Given the description of an element on the screen output the (x, y) to click on. 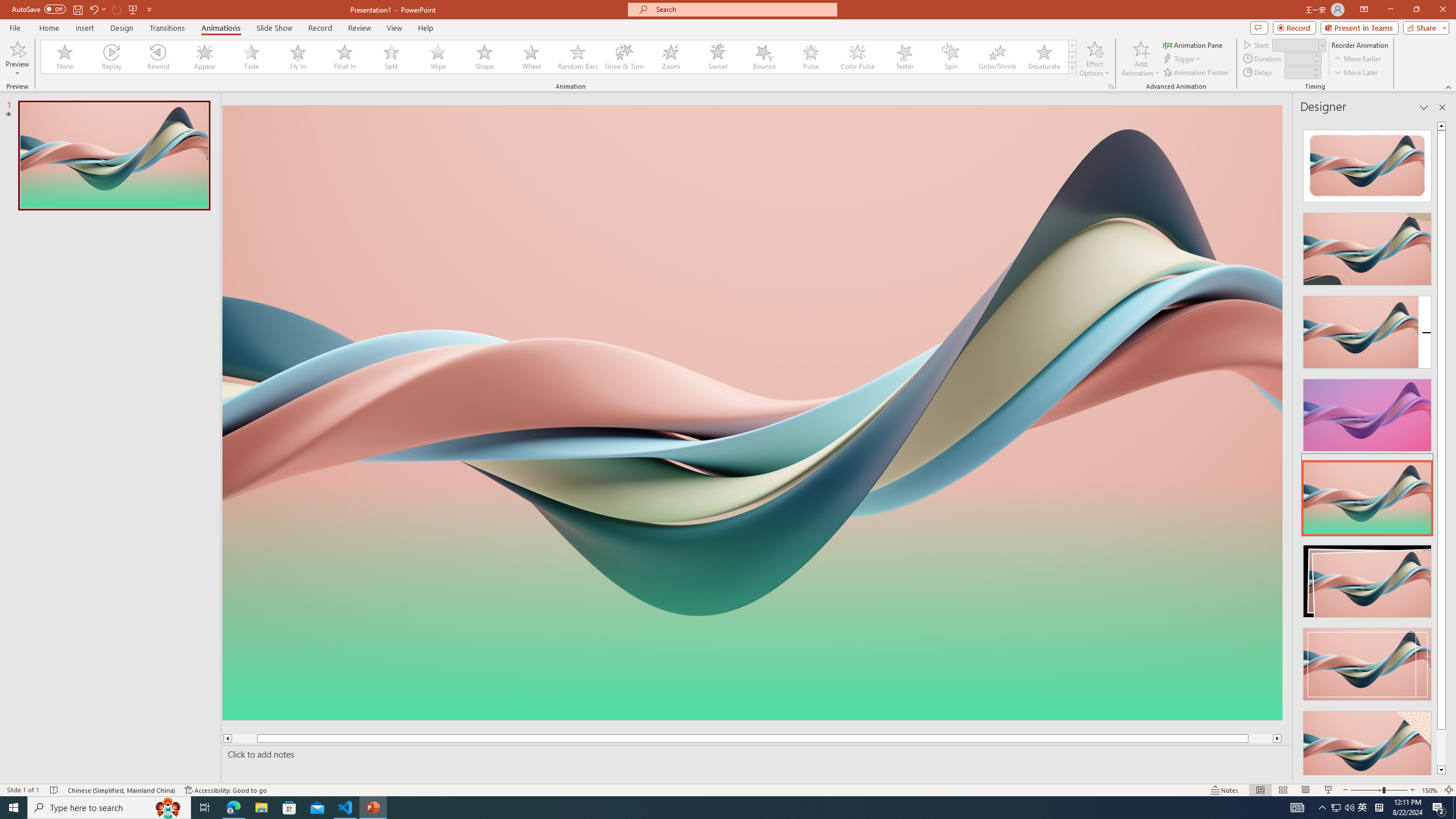
Slide (114, 155)
Shape (484, 56)
AutomationID: AnimationGallery (558, 56)
Decorative Locked (752, 579)
Add Animation (1141, 58)
Slide Notes (754, 754)
Float In (344, 56)
Minimize (1390, 9)
Record (320, 28)
Preview (17, 48)
Transitions (167, 28)
Line down (1441, 770)
Normal (1260, 790)
Class: MsoCommandBar (728, 789)
